Given the description of an element on the screen output the (x, y) to click on. 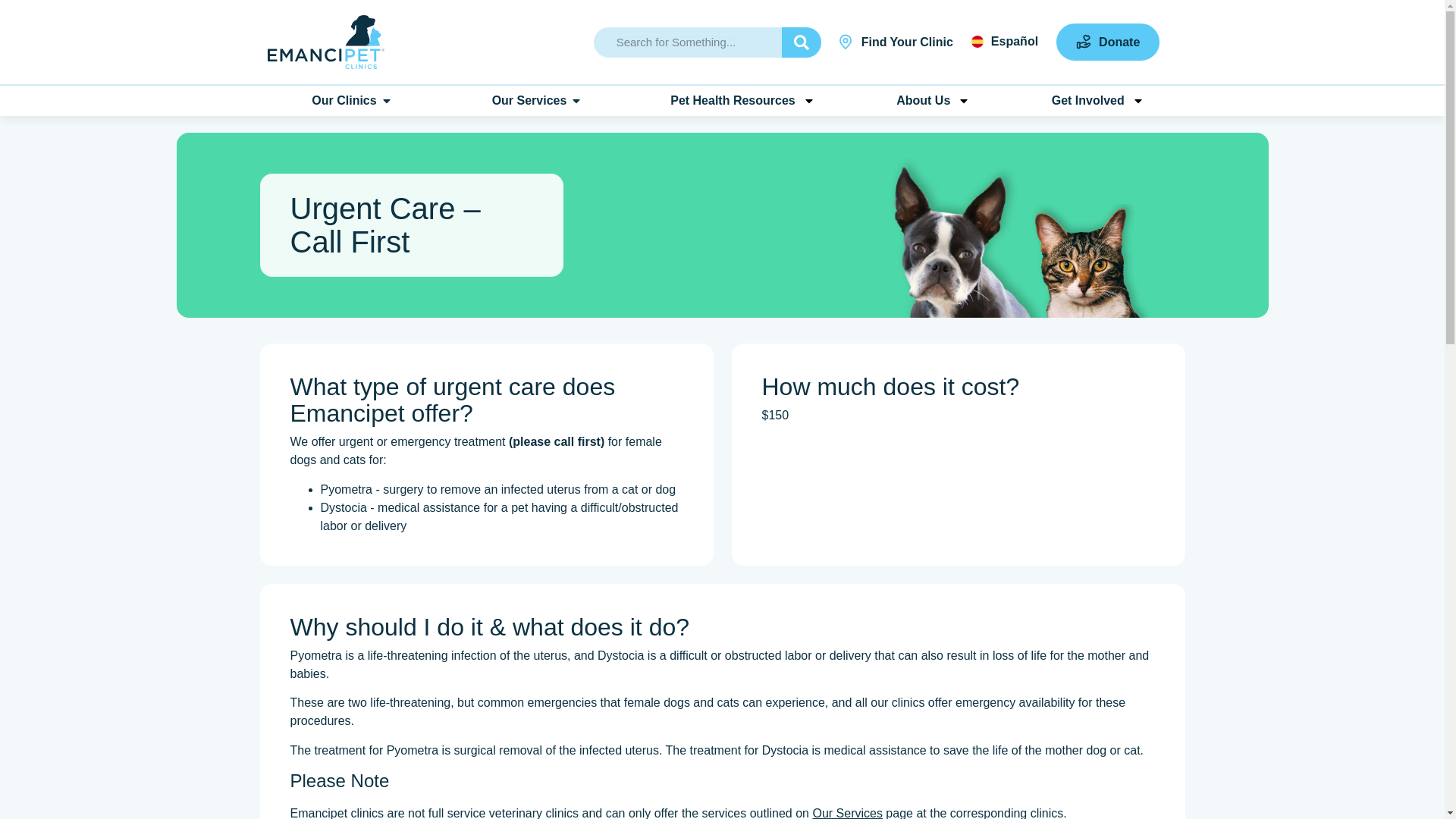
About Us (933, 100)
Our Clinics (343, 100)
Donate (1107, 41)
Pet Health Resources (742, 100)
Our Services (529, 100)
Find Your Clinic (896, 42)
